Given the description of an element on the screen output the (x, y) to click on. 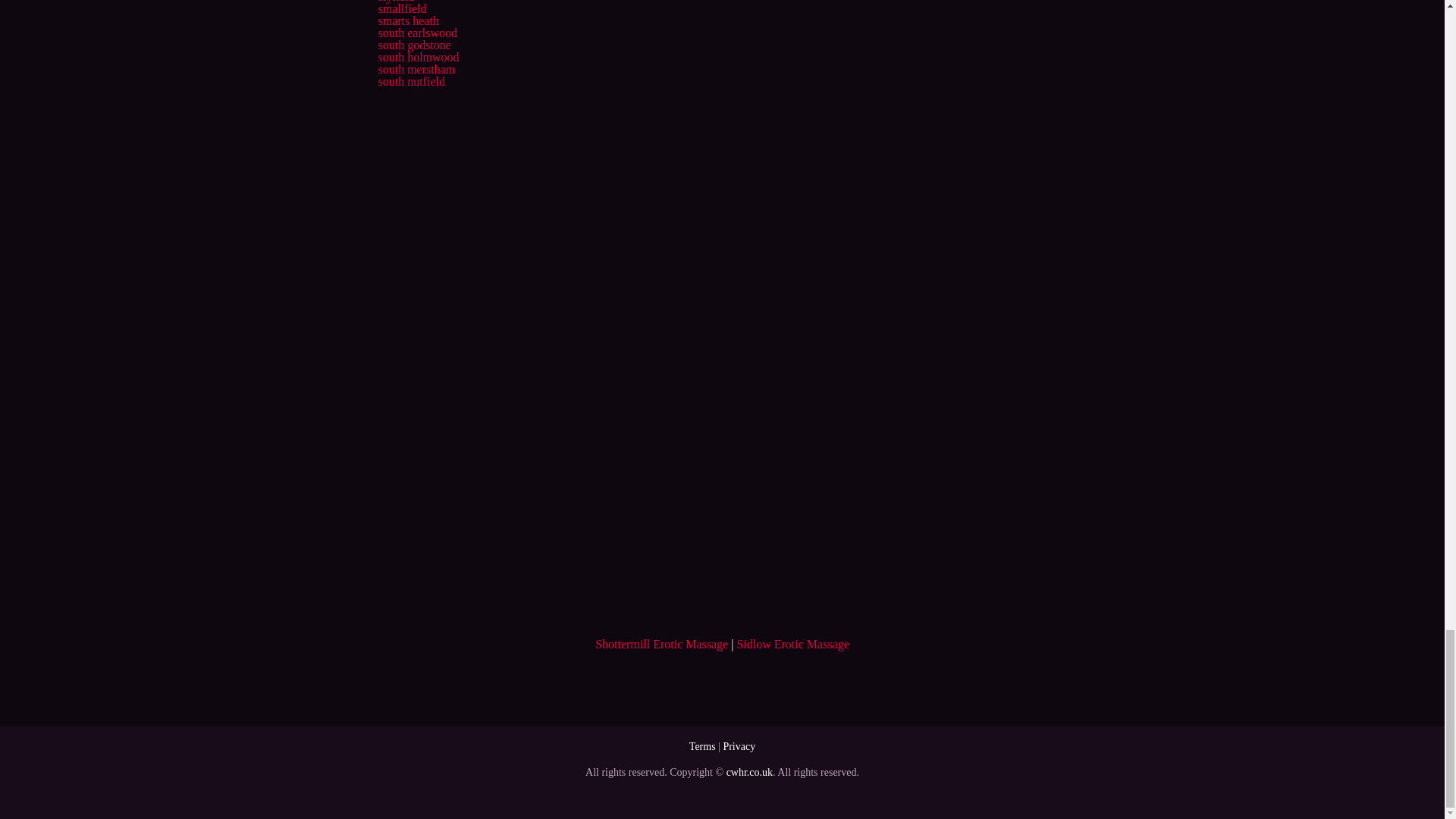
smarts heath (407, 20)
Sidlow Erotic Massage (792, 644)
cwhr.co.uk (749, 772)
south godstone (413, 44)
Privacy (738, 746)
smallfield (401, 8)
south holmwood (417, 56)
south merstham (415, 69)
south nutfield (410, 81)
south earlswood (417, 32)
